Given the description of an element on the screen output the (x, y) to click on. 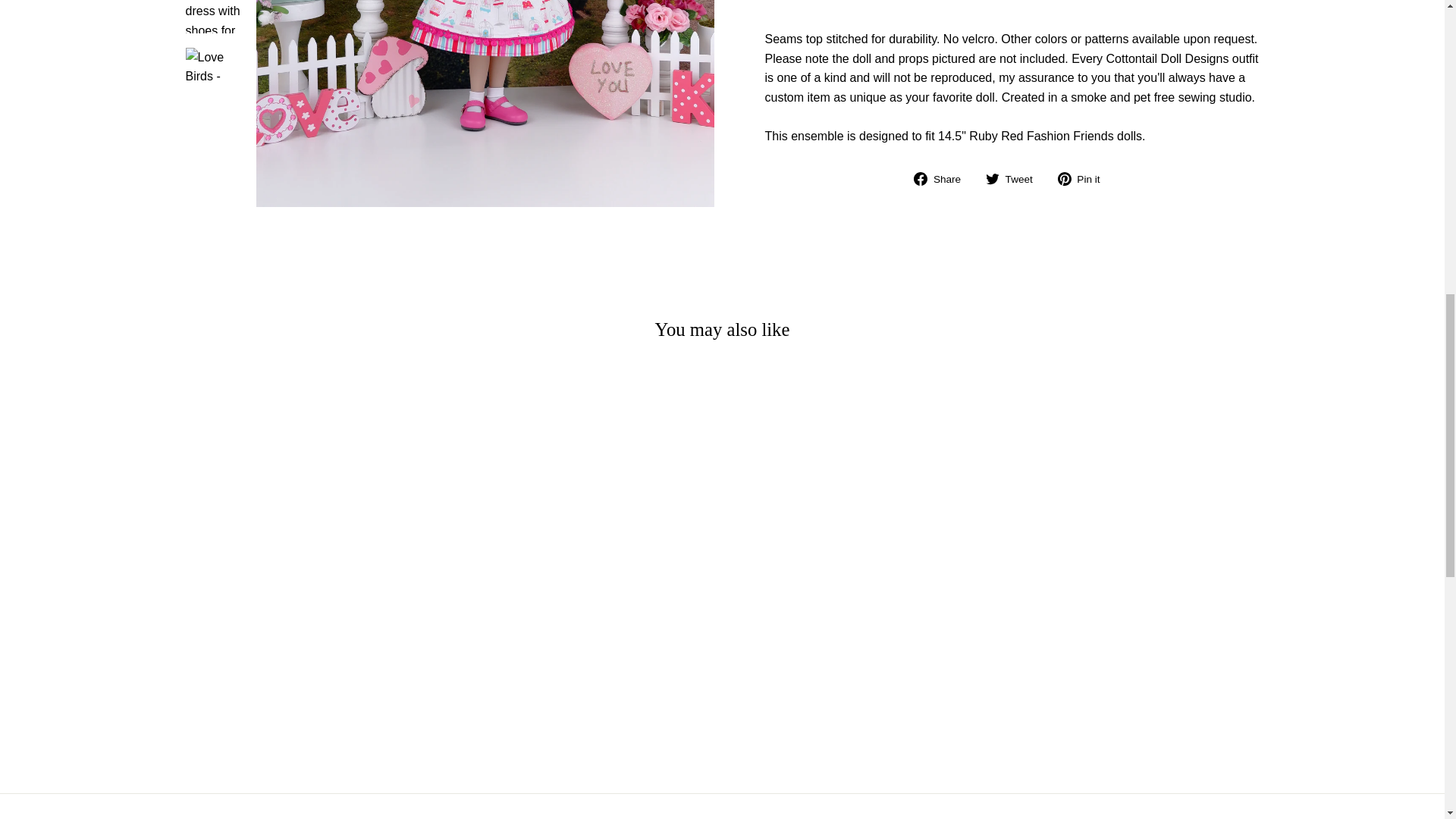
twitter (991, 178)
Pin on Pinterest (1085, 178)
Tweet on Twitter (1014, 178)
Share on Facebook (943, 178)
